Given the description of an element on the screen output the (x, y) to click on. 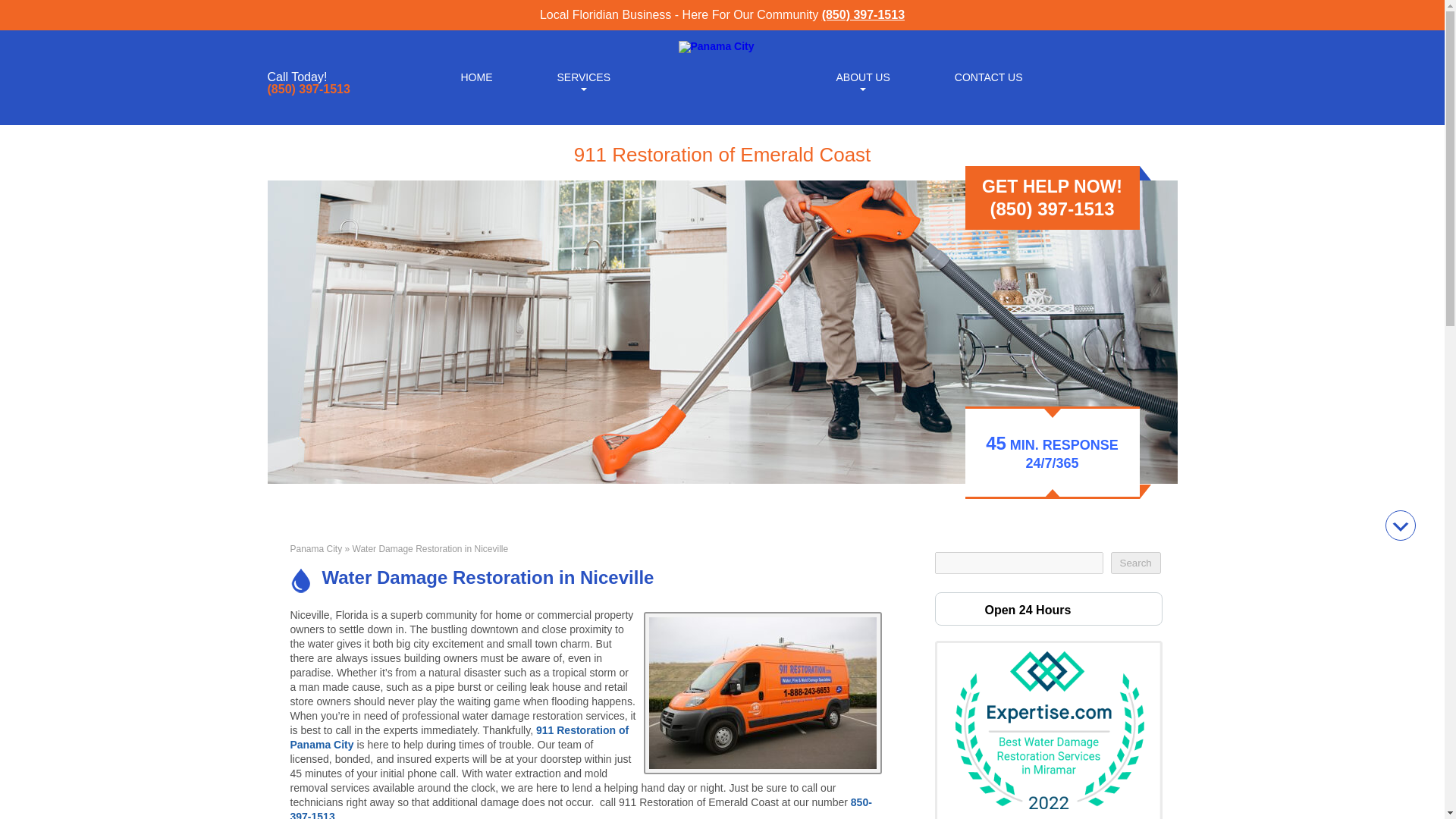
CONTACT US (988, 76)
HOME (476, 76)
ABOUT US (862, 76)
911 Water Damage Restoration Logo (716, 45)
Go to Panama City. (315, 548)
SERVICES (582, 76)
Scroll to Down (1400, 525)
Search (1134, 563)
